Given the description of an element on the screen output the (x, y) to click on. 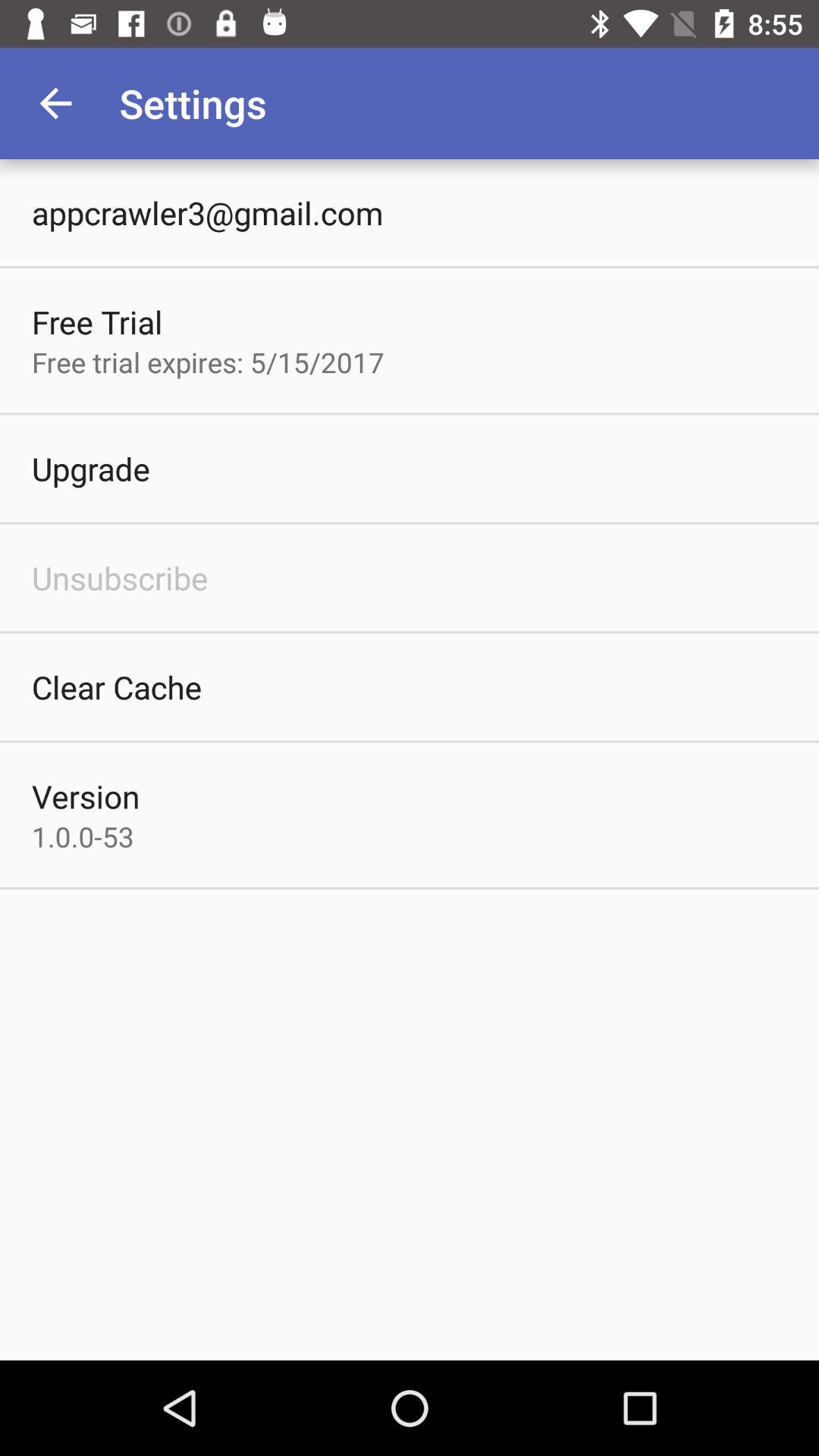
launch the upgrade (90, 468)
